Given the description of an element on the screen output the (x, y) to click on. 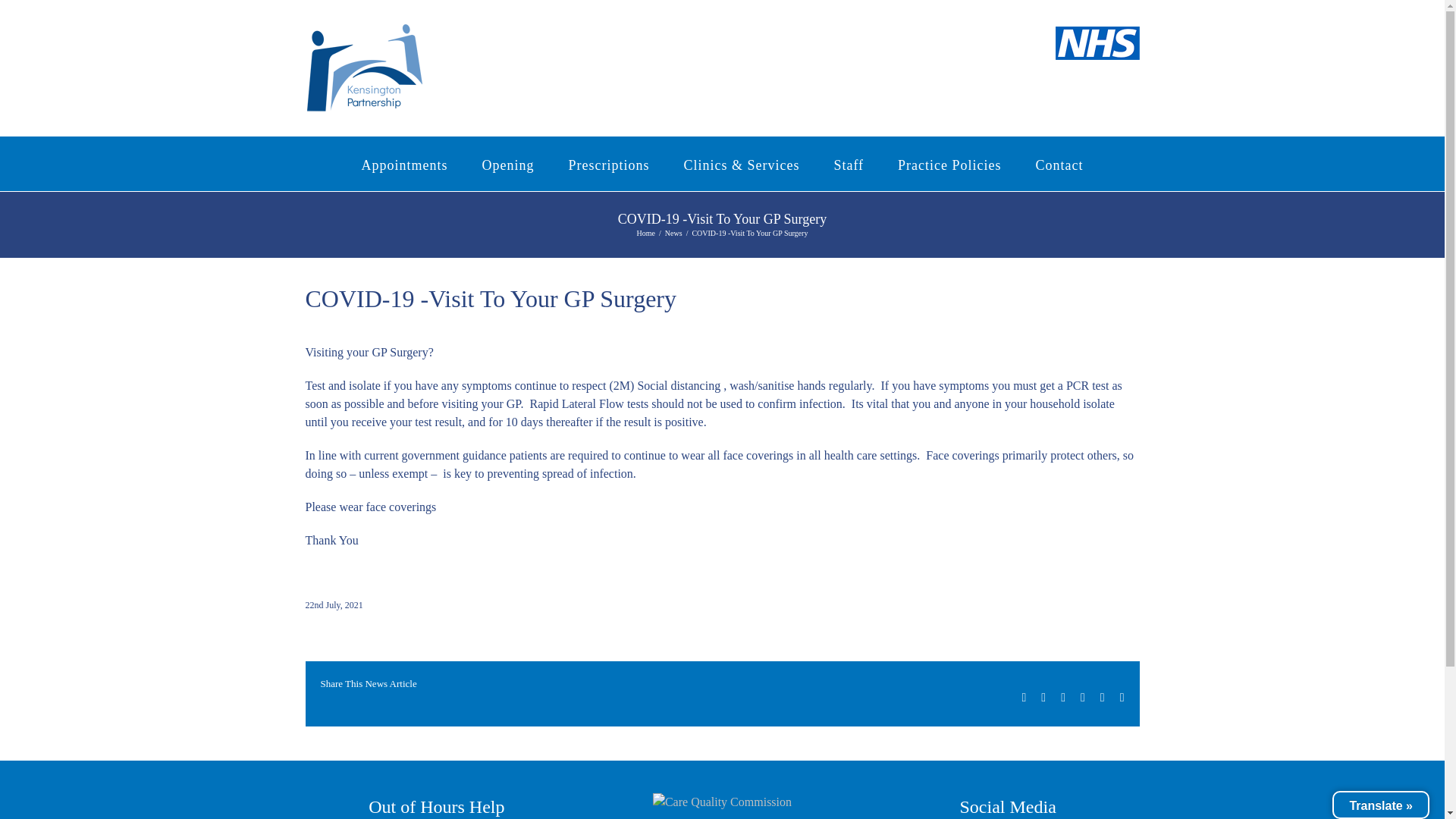
Appointments (403, 163)
Practice Policies (949, 163)
Opening (507, 163)
Prescriptions (608, 163)
